Given the description of an element on the screen output the (x, y) to click on. 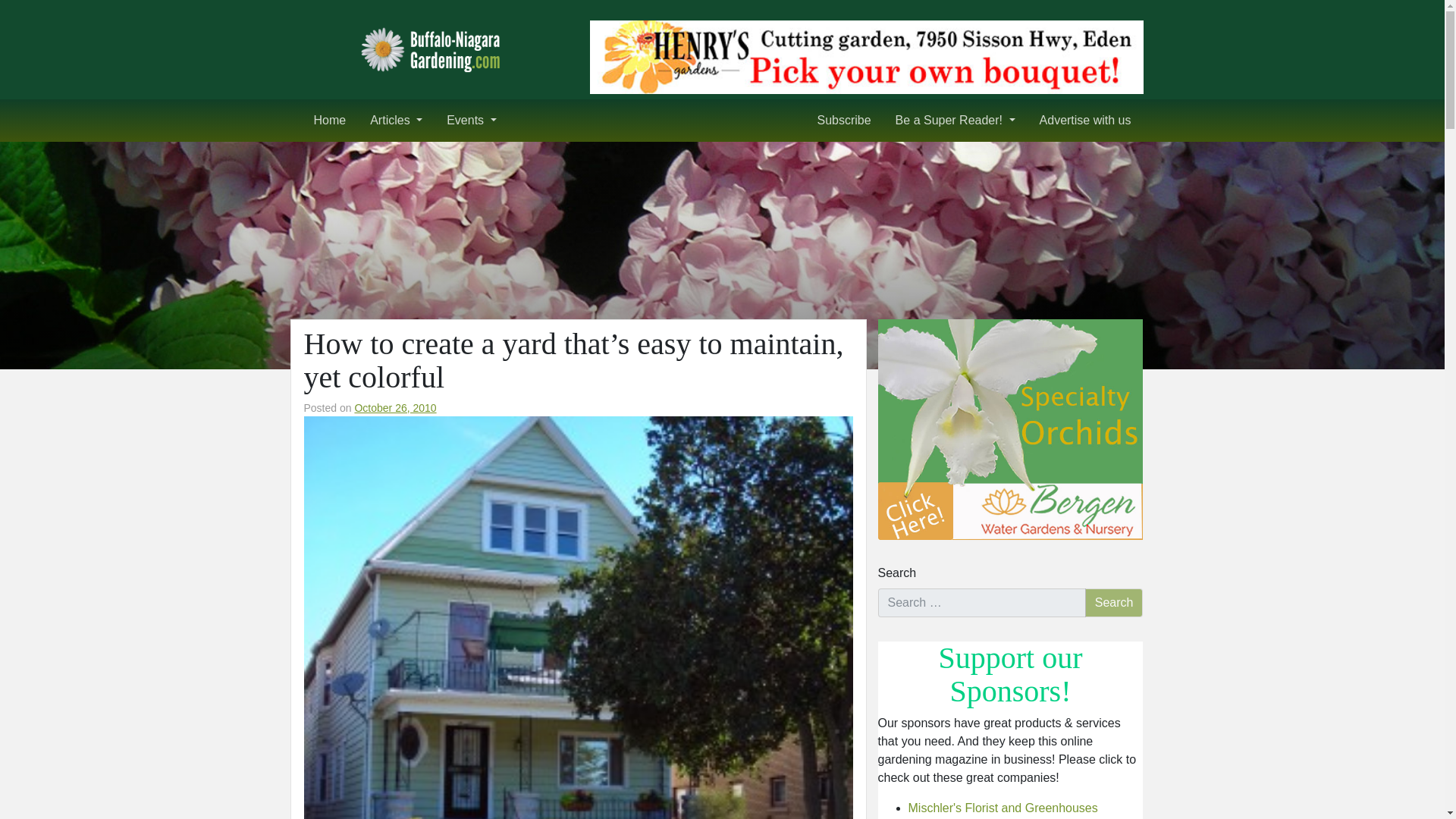
Subscribe (843, 120)
Subscribe (843, 120)
Home (329, 120)
Be a Super Reader! (955, 120)
Be a Super Reader! (955, 120)
October 26, 2010 (394, 408)
Events (470, 120)
Articles (395, 120)
Articles (395, 120)
